Given the description of an element on the screen output the (x, y) to click on. 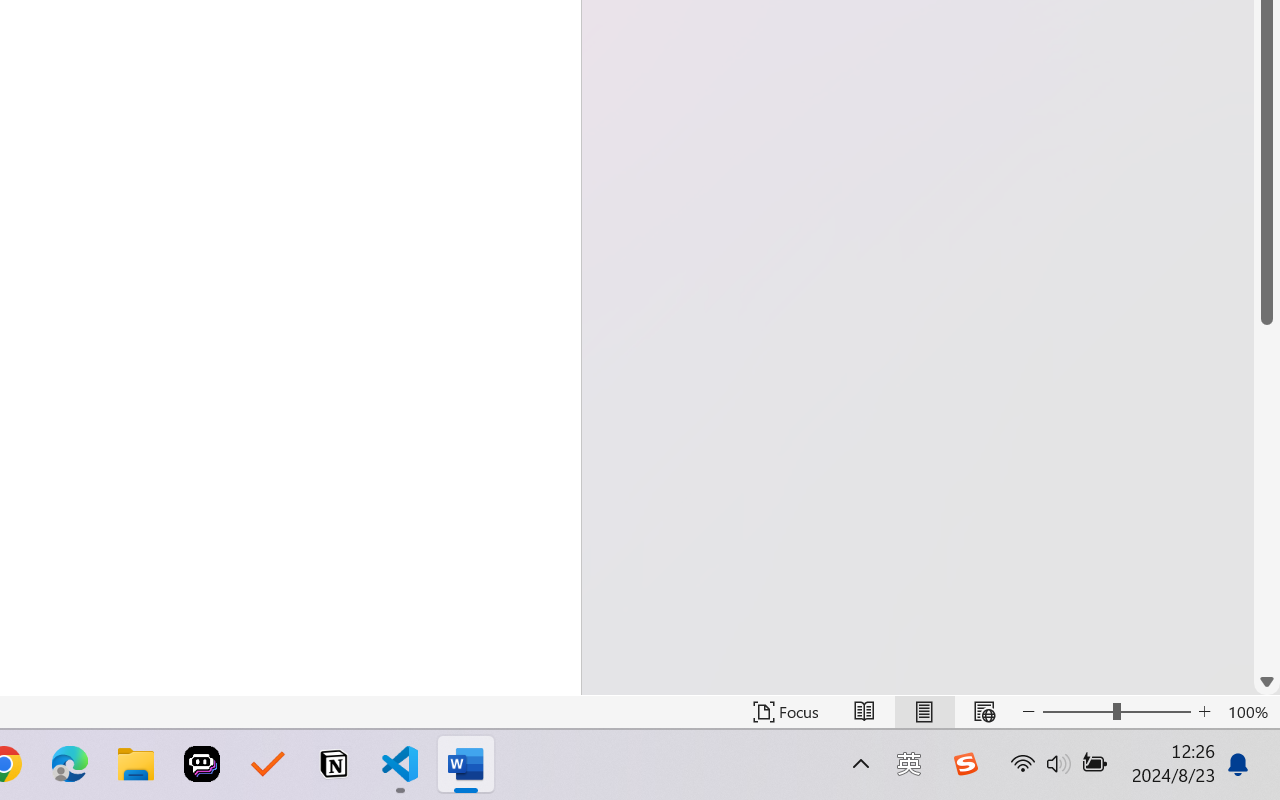
Zoom 100% (1249, 712)
Page down (1267, 496)
Line down (1267, 681)
